Given the description of an element on the screen output the (x, y) to click on. 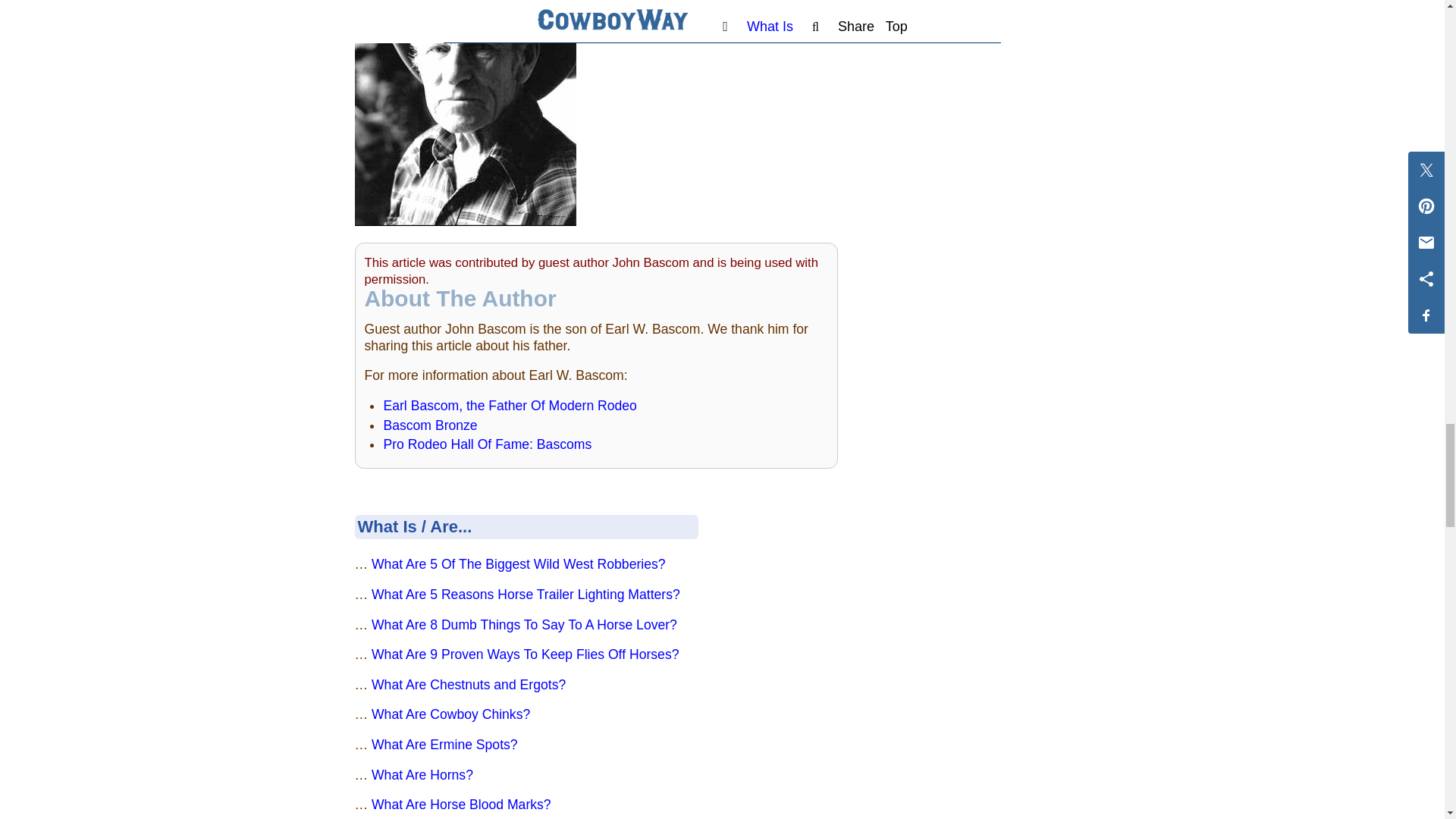
What Are 9 Proven Ways To Keep Flies Off Horses? (524, 654)
What Are Horse Blood Marks? (461, 804)
What Are 5 Reasons Horse Trailer Lighting Matters? (525, 594)
What Are 5 Of The Biggest Wild West Robberies? (518, 563)
What Are Ermine Spots? (444, 744)
Bascom Bronze (429, 425)
What Are Horns? (422, 774)
Earl Bascom, the Father Of Modern Rodeo (509, 405)
Pro Rodeo Hall Of Fame: Bascoms (486, 444)
What Are 8 Dumb Things To Say To A Horse Lover? (524, 624)
What Are Cowboy Chinks? (450, 713)
What Are Chestnuts and Ergots? (468, 684)
